Given the description of an element on the screen output the (x, y) to click on. 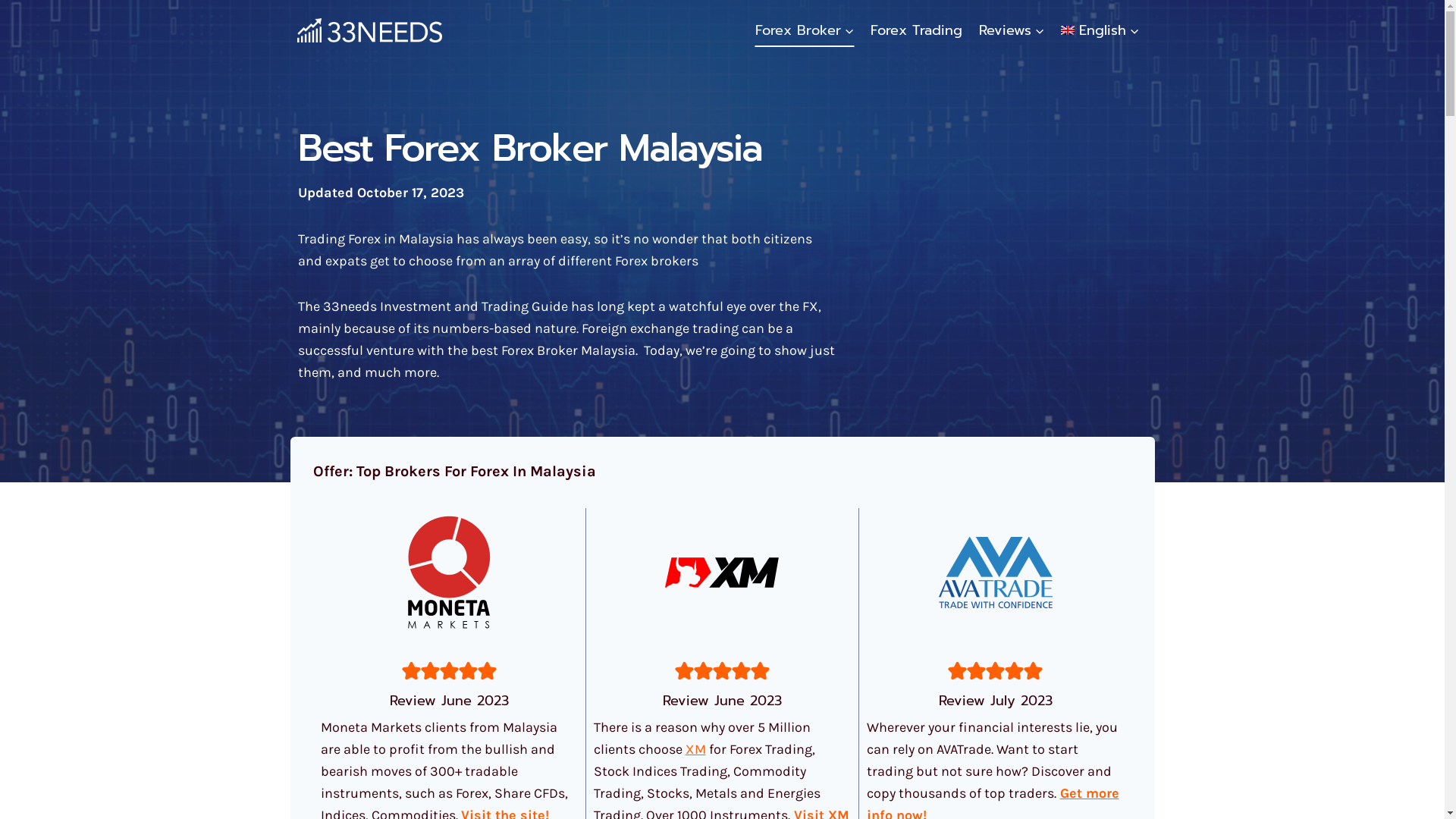
English Element type: text (1100, 29)
Forex Trading Element type: text (916, 29)
XM Element type: text (695, 748)
Forex Broker Element type: text (804, 29)
Reviews Element type: text (1011, 29)
